Given the description of an element on the screen output the (x, y) to click on. 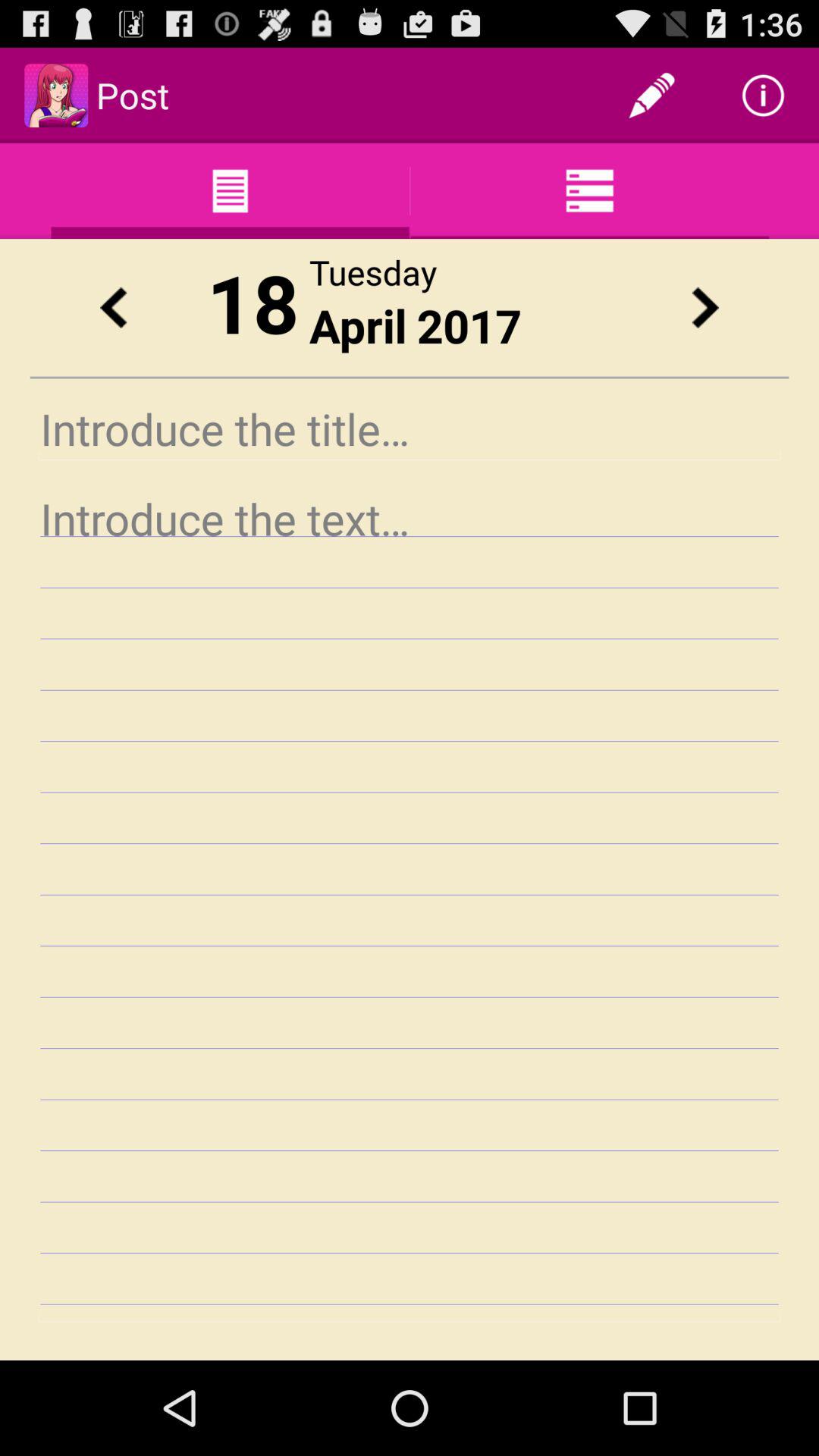
insert title (409, 428)
